Given the description of an element on the screen output the (x, y) to click on. 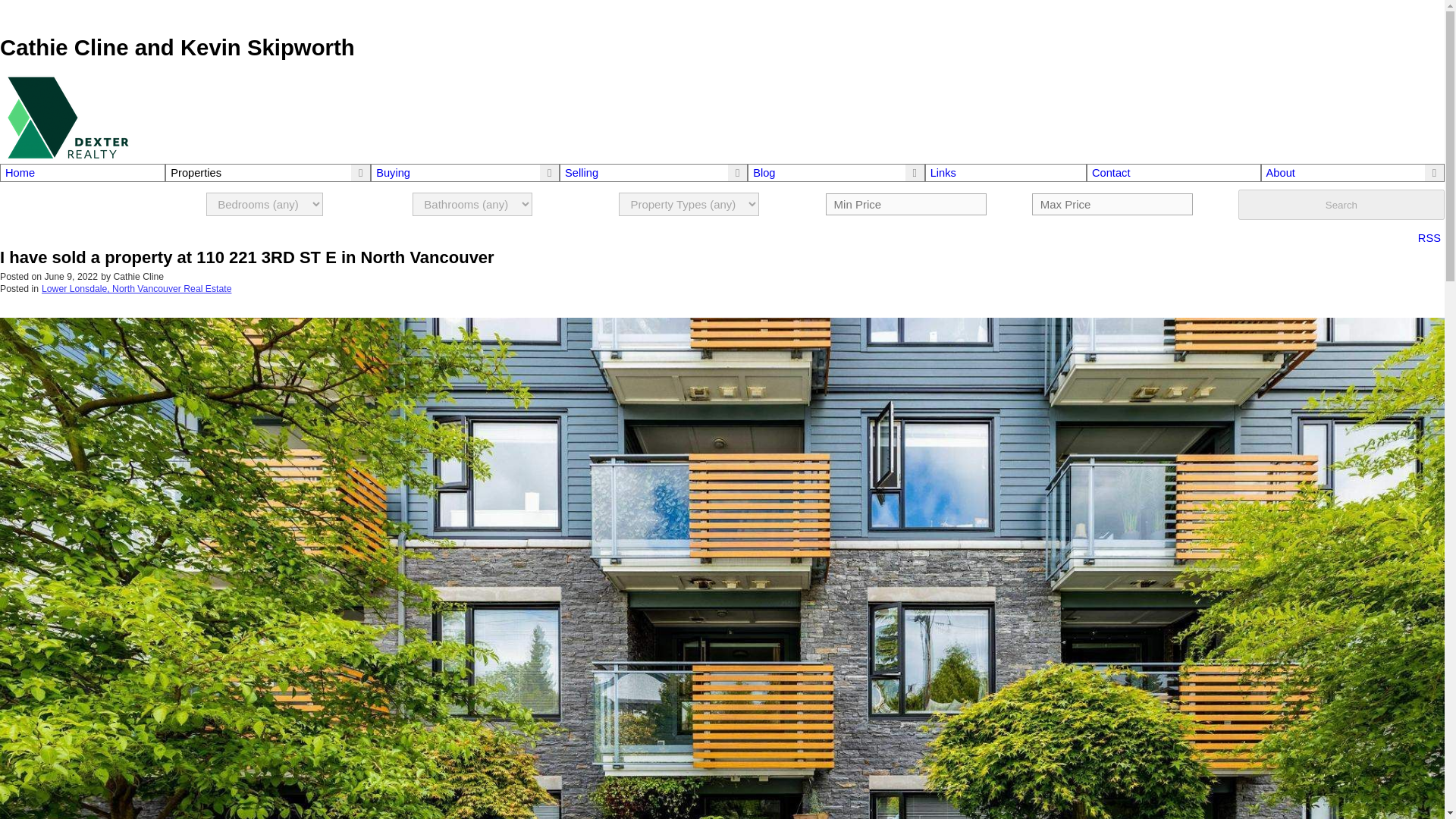
Links (1005, 173)
Buying (392, 173)
Blog (763, 173)
Lower Lonsdale, North Vancouver Real Estate (136, 288)
Properties (195, 173)
Contact (1173, 173)
About (1280, 173)
Selling (581, 173)
Home (82, 173)
